Given the description of an element on the screen output the (x, y) to click on. 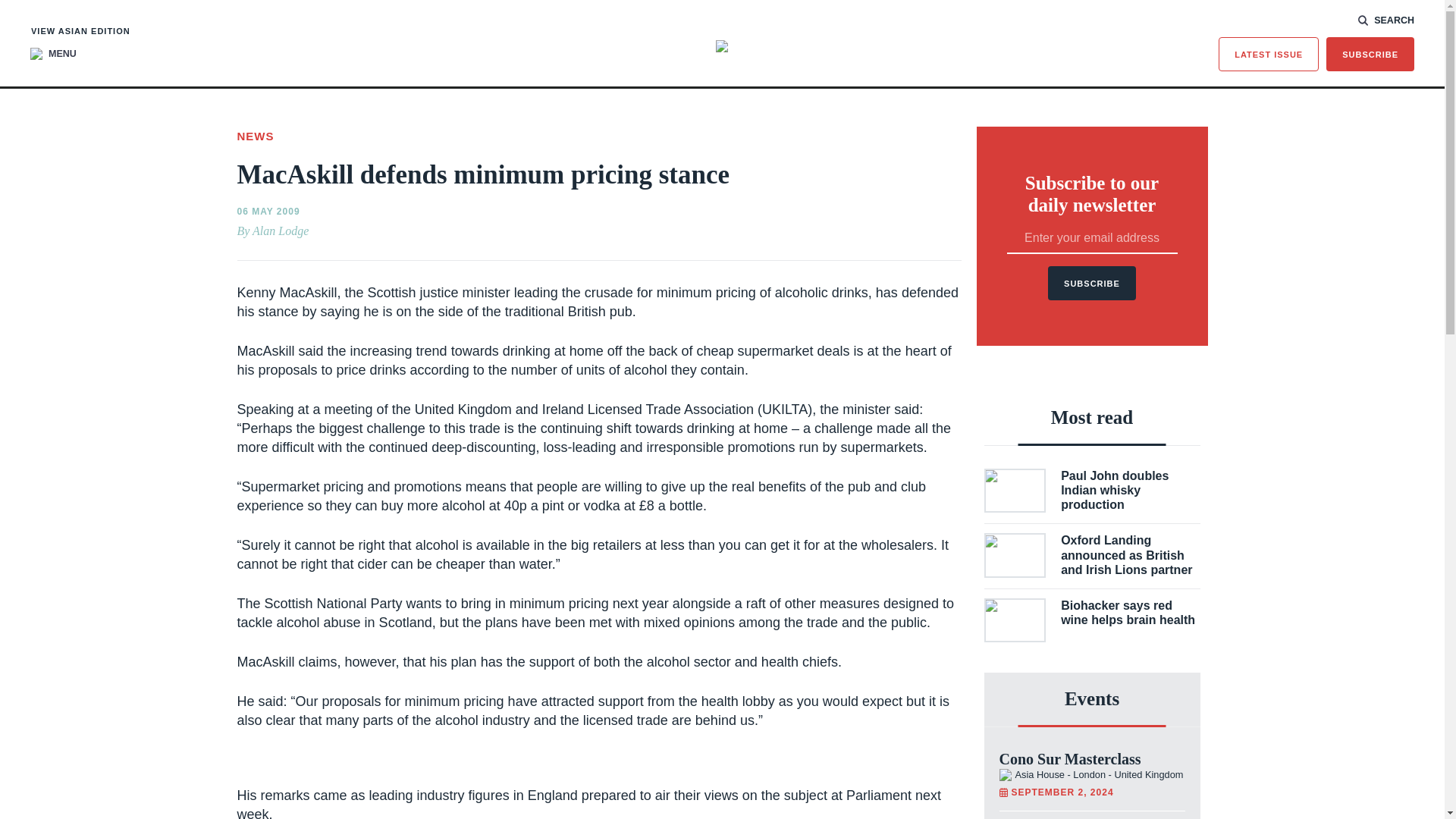
LATEST ISSUE (1268, 53)
The Drinks Business (722, 46)
SUBSCRIBE (1369, 53)
VIEW ASIAN EDITION (80, 31)
SEARCH (1385, 20)
MENU (53, 53)
SUBSCRIBE (1091, 283)
